Given the description of an element on the screen output the (x, y) to click on. 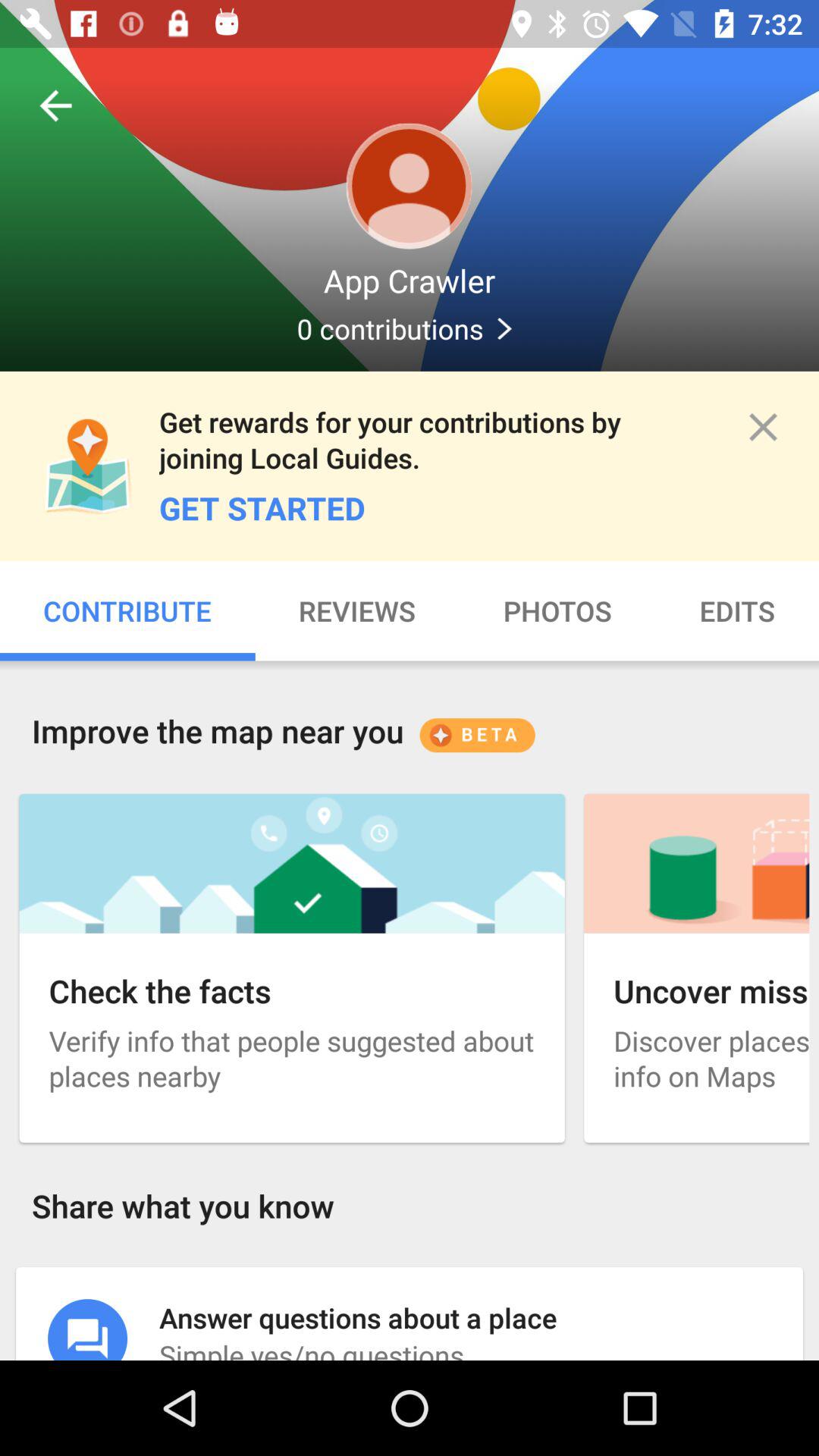
turn off icon to the right of photos app (737, 610)
